Given the description of an element on the screen output the (x, y) to click on. 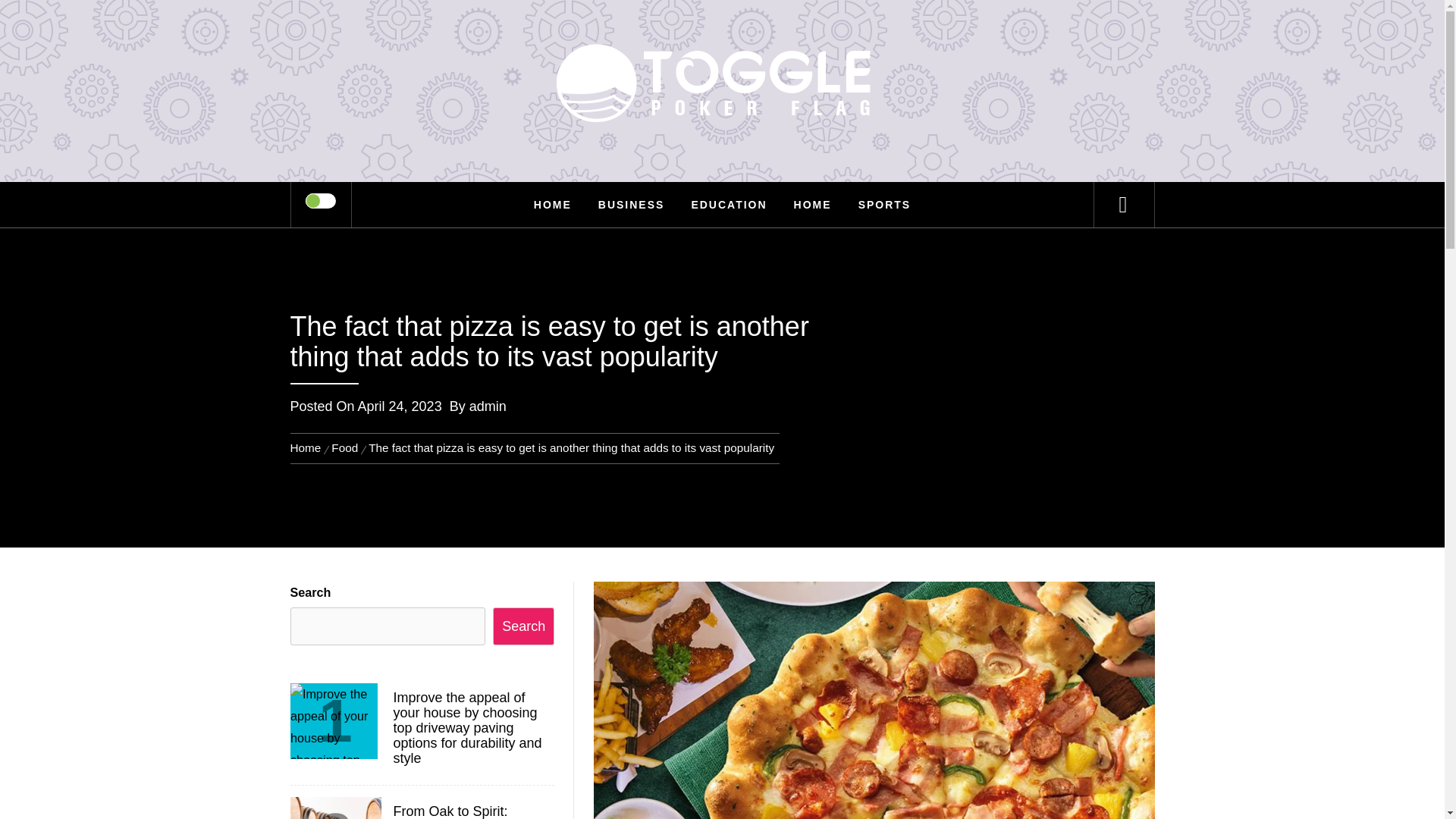
EDUCATION (728, 204)
From Oak to Spirit: Crafting the Perfect Whisky Barrel (471, 811)
Home (307, 447)
BUSINESS (631, 204)
HOME (813, 204)
April 24, 2023 (400, 406)
Search (797, 33)
SPORTS (885, 204)
admin (487, 406)
